Given the description of an element on the screen output the (x, y) to click on. 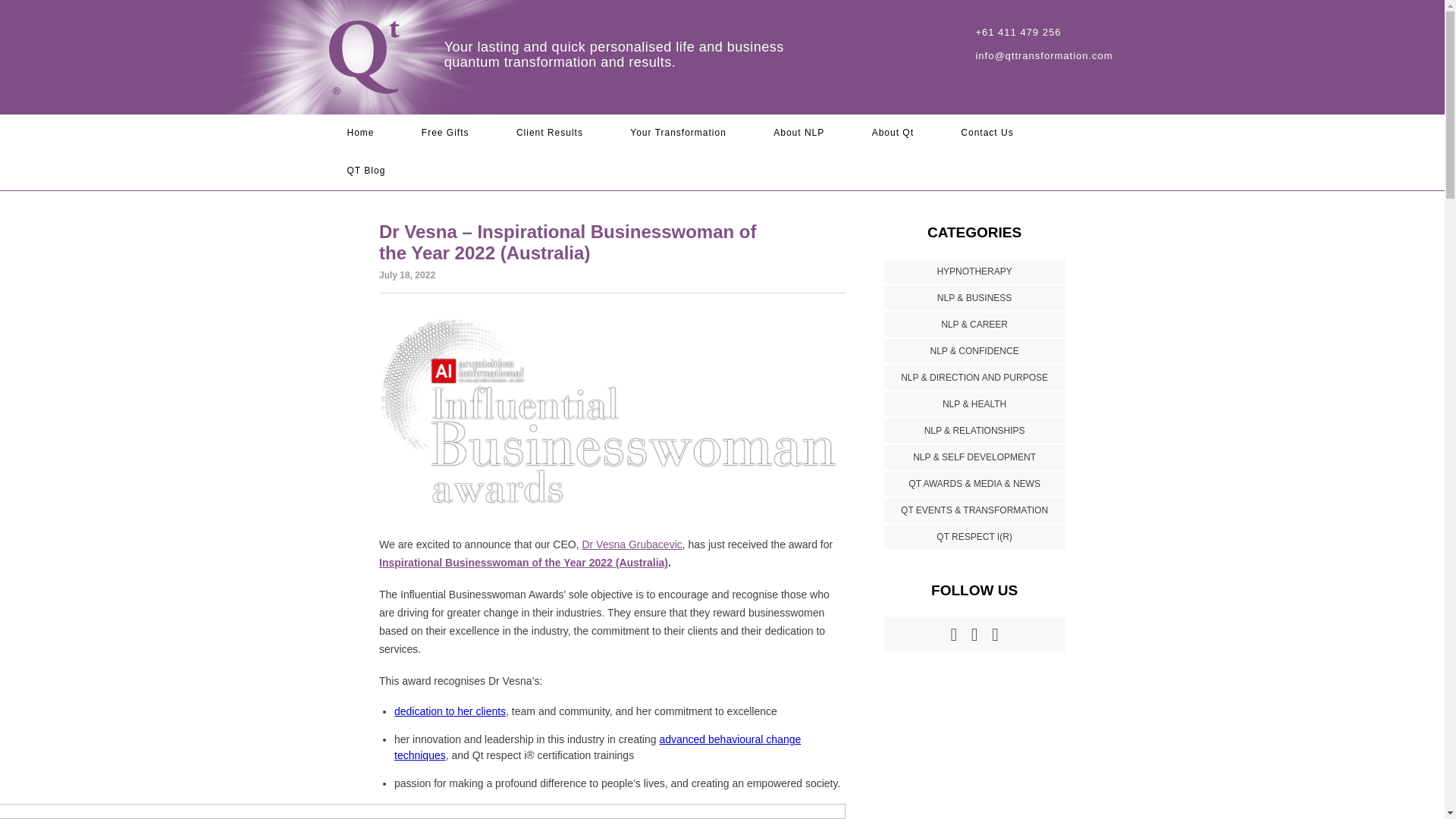
Contact Us (987, 133)
dedication to her clients (449, 711)
advanced behavioural change techniques (597, 747)
About NLP (798, 133)
Home (360, 133)
Free Gifts (445, 133)
About NLP (798, 133)
About Qt (893, 133)
Client Results (550, 133)
QT Blog (365, 171)
